Given the description of an element on the screen output the (x, y) to click on. 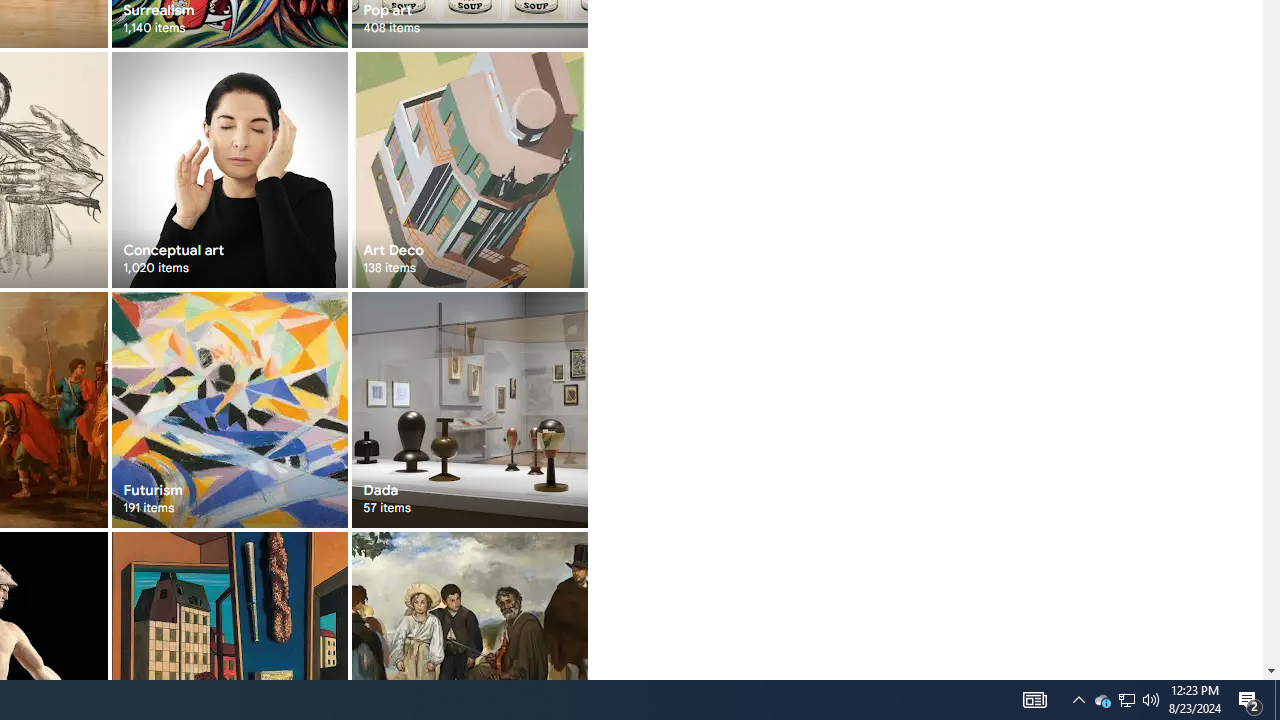
Futurism 191 items (229, 409)
Dada 57 items (468, 409)
Conceptual art 1,020 items (229, 169)
Art Deco 138 items (468, 169)
